Given the description of an element on the screen output the (x, y) to click on. 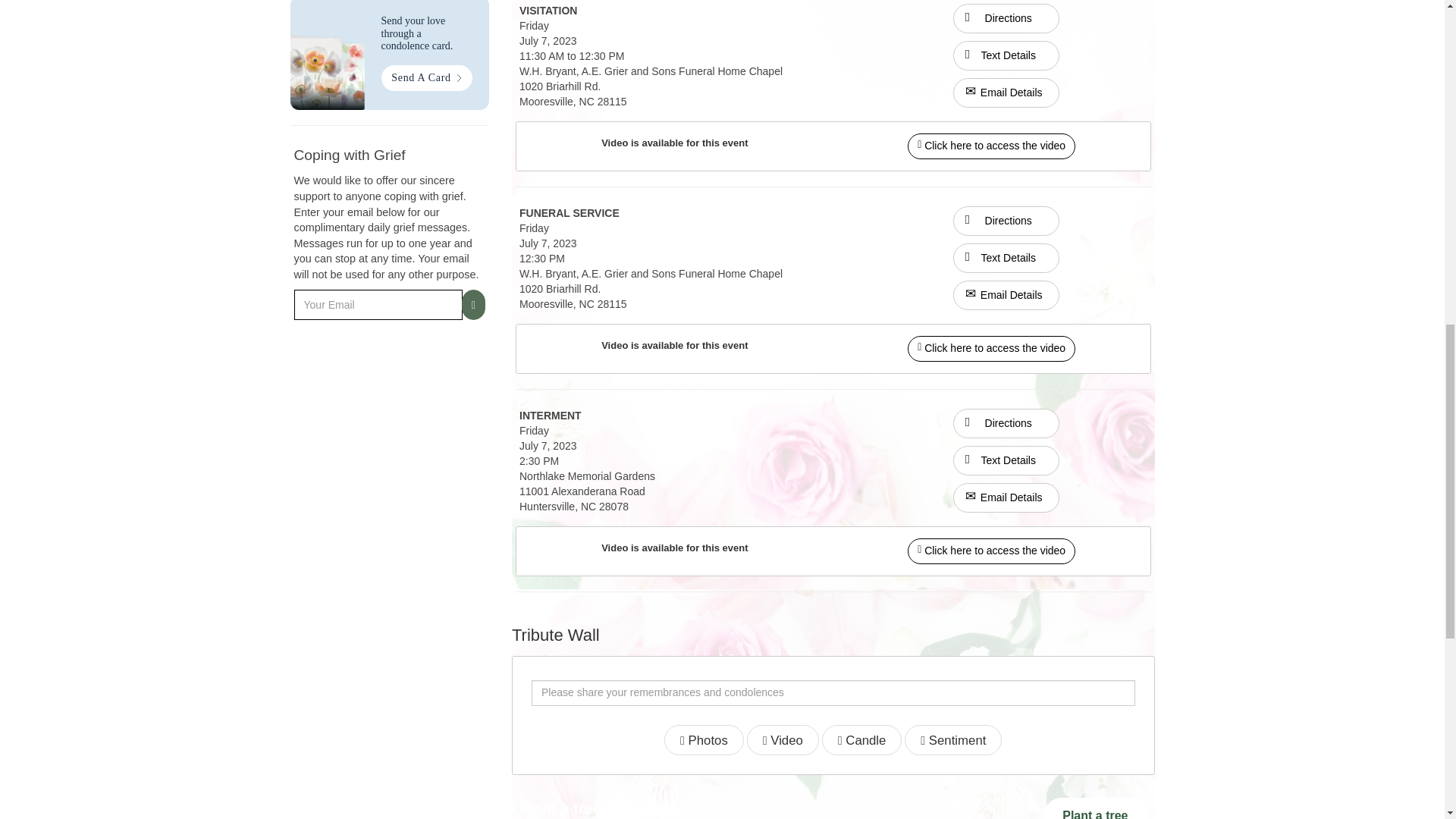
Text Details (1006, 55)
 Click here to access the video (991, 145)
Text Details (1006, 257)
 Click here to access the video (991, 346)
 Click here to access the video (991, 348)
Directions (1006, 18)
Text Details (1006, 460)
Send A Card (425, 77)
Directions (1006, 422)
Directions (1006, 423)
Directions (1006, 220)
Directions (1006, 17)
Directions (1006, 219)
Email Details (1006, 92)
 Click here to access the video (991, 145)
